Given the description of an element on the screen output the (x, y) to click on. 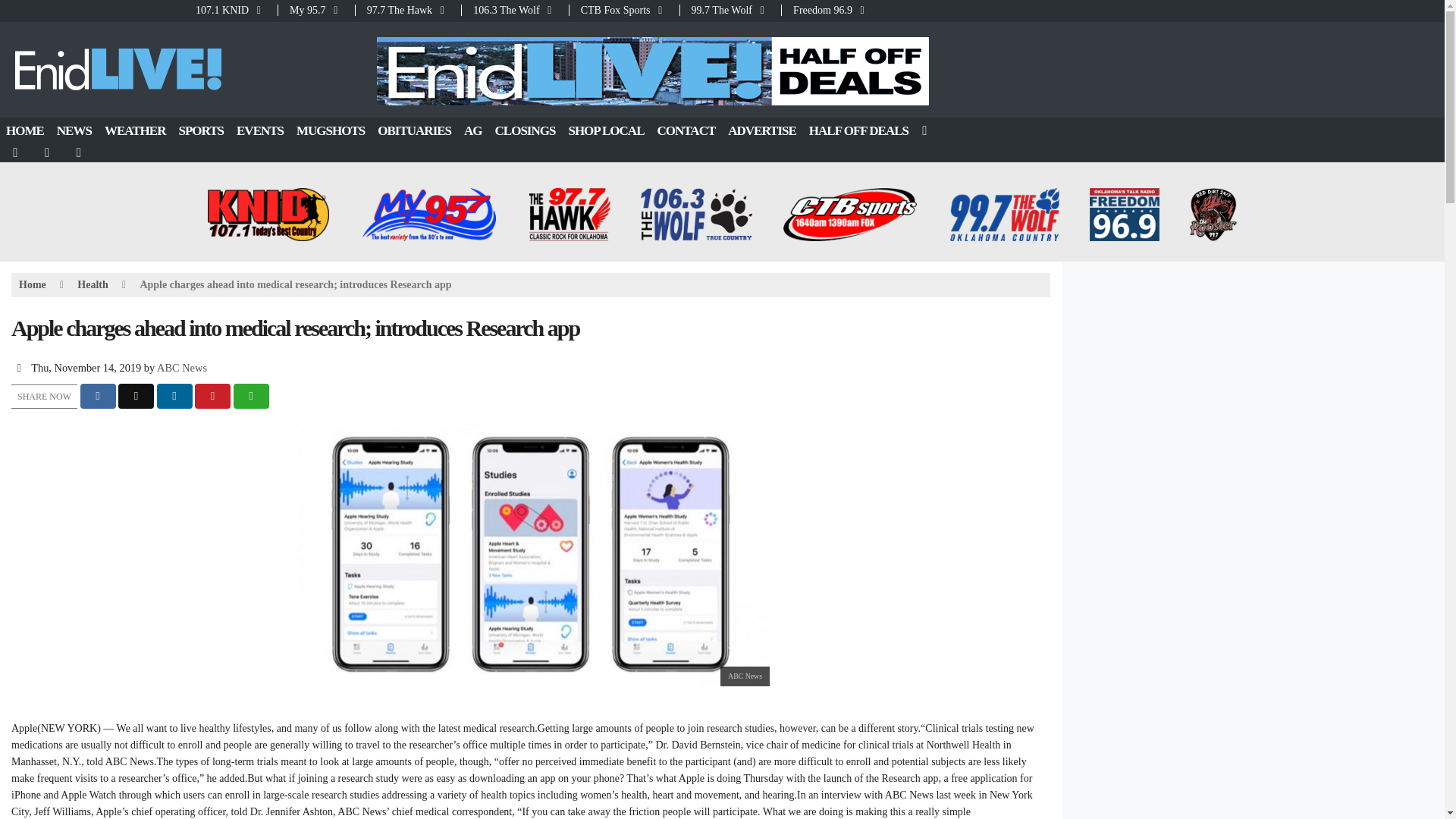
Share to Facebook (98, 396)
My 95.7 (316, 9)
Follow us on Instagram (80, 152)
Follow us on Facebook (16, 152)
107.1 KNID (235, 9)
Posts by ABC News (181, 367)
Follow us on X (48, 152)
